Given the description of an element on the screen output the (x, y) to click on. 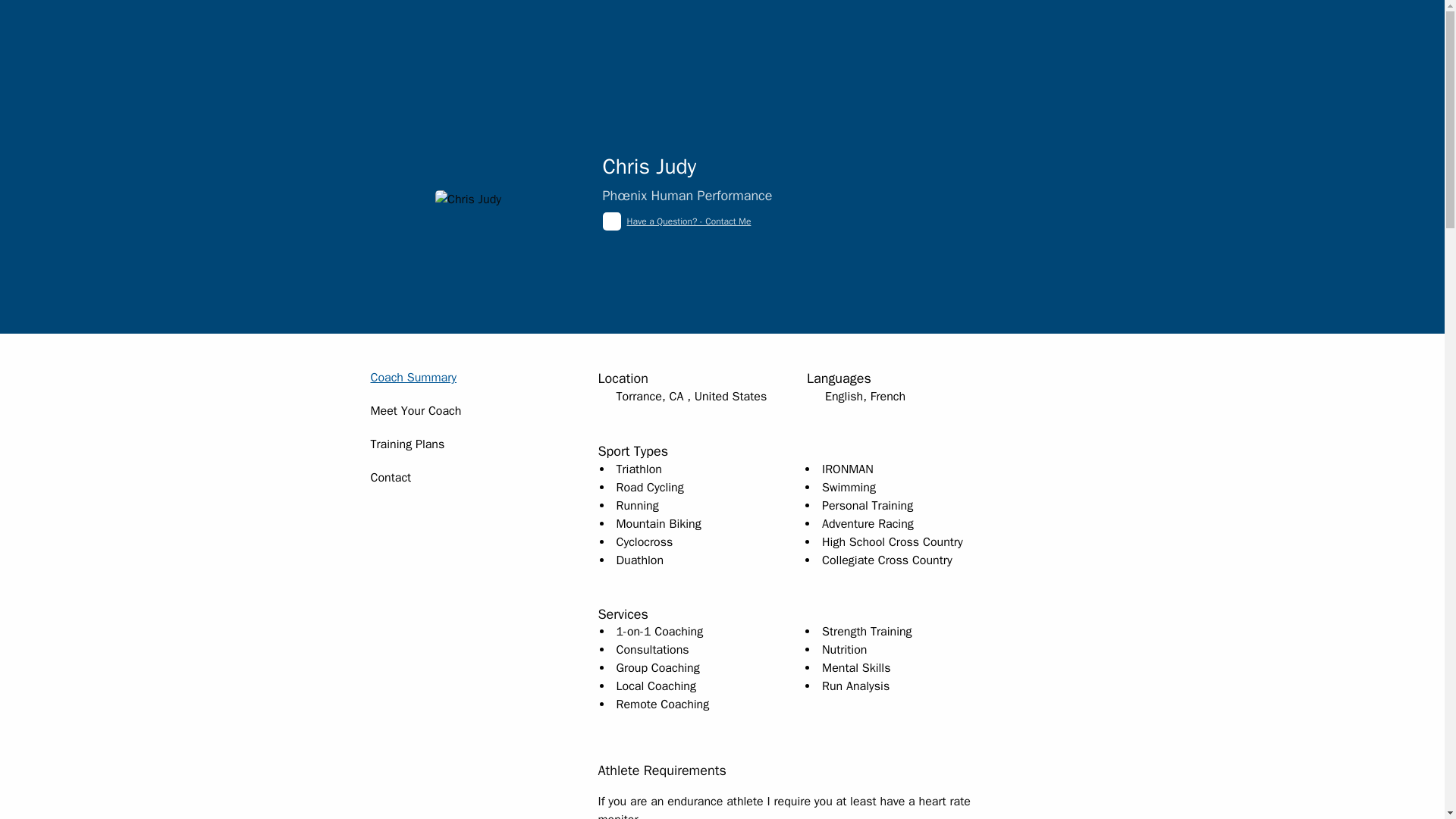
Meet Your Coach (415, 410)
Coach Summary (412, 377)
Contact (389, 477)
Chris Judy (467, 199)
Have a Question? - Contact Me (688, 220)
Training Plans (406, 444)
